Given the description of an element on the screen output the (x, y) to click on. 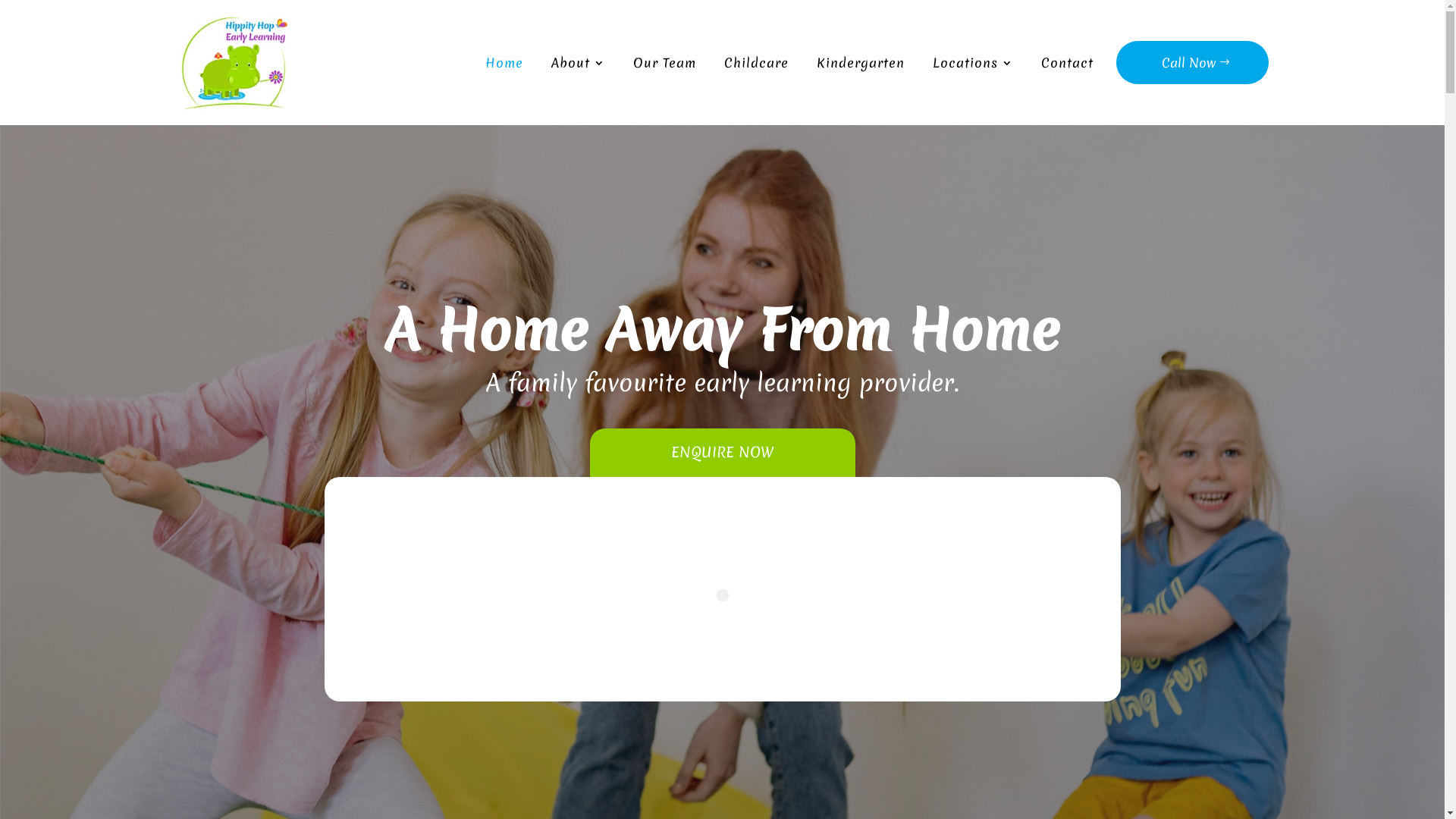
Call Now Element type: text (1192, 62)
Childcare Element type: text (755, 62)
About Element type: text (577, 62)
Kindergarten Element type: text (859, 62)
Locations Element type: text (972, 62)
Our Team Element type: text (663, 62)
Home Element type: text (504, 62)
Contact Element type: text (1066, 62)
